Given the description of an element on the screen output the (x, y) to click on. 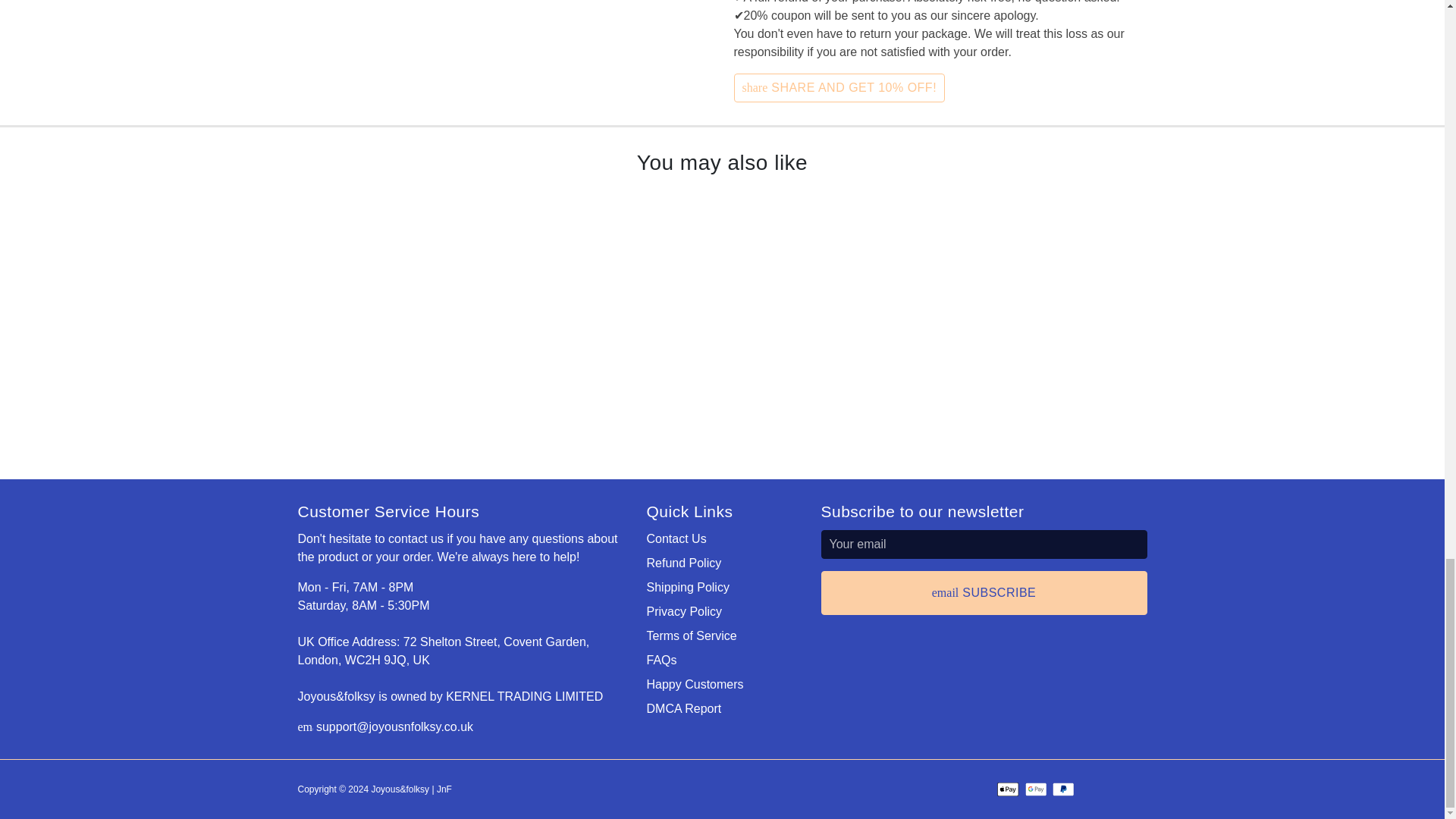
Google Pay (1035, 789)
Apple Pay (1008, 789)
PayPal (1063, 789)
